Given the description of an element on the screen output the (x, y) to click on. 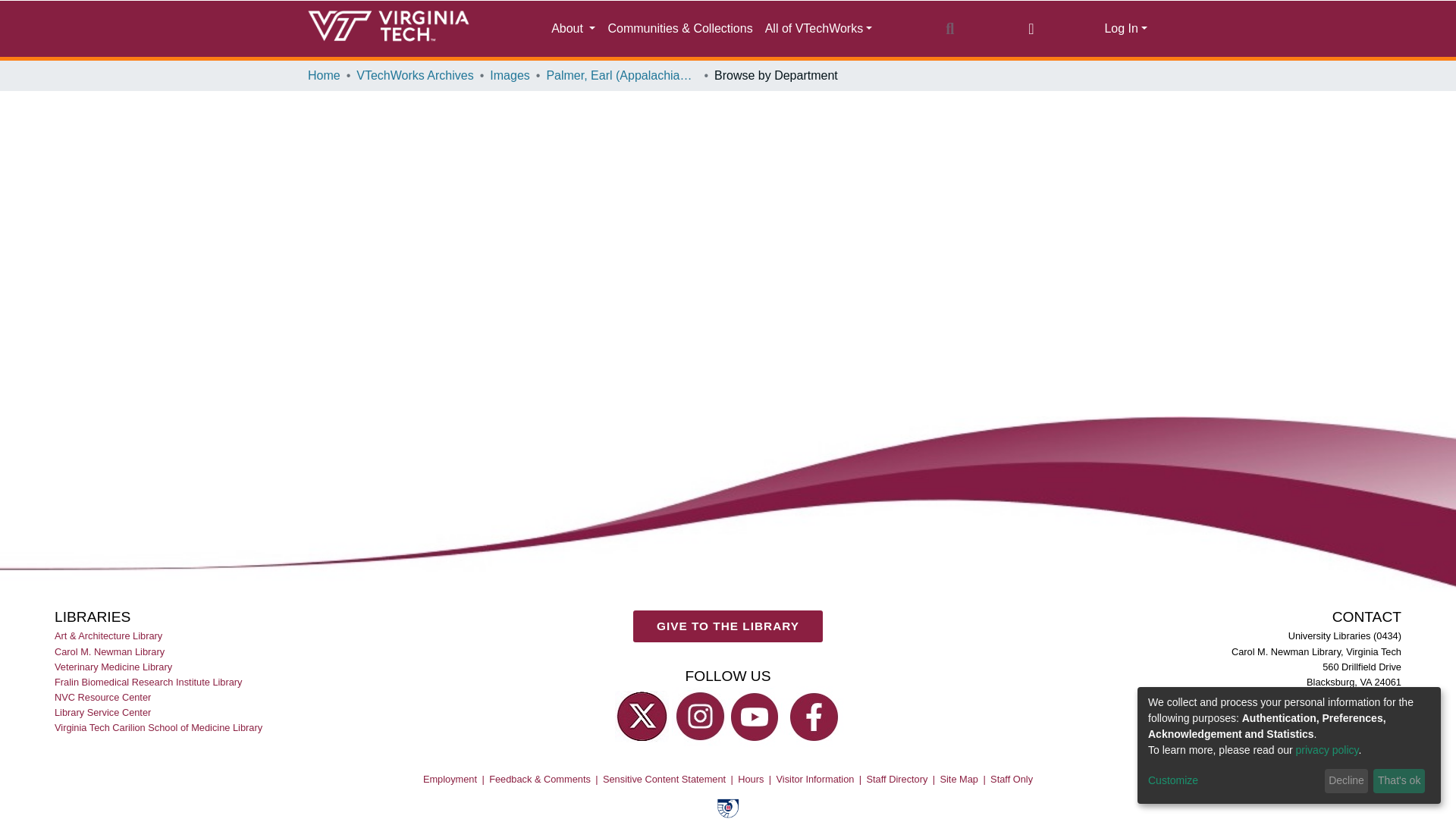
Instagram (698, 716)
All of VTechWorks (818, 28)
About (572, 28)
Search (949, 28)
Facebook (813, 716)
Twitter (642, 716)
Virginia Tech Carilion School of Medicine Library (159, 726)
Log In (1125, 28)
Images (509, 75)
Carol M. Newman Library (111, 651)
Home (323, 75)
Fralin Biomedical Research Institute Library (149, 681)
YouTube (757, 716)
Language switch (1031, 28)
Veterinary Medicine Library (114, 666)
